Given the description of an element on the screen output the (x, y) to click on. 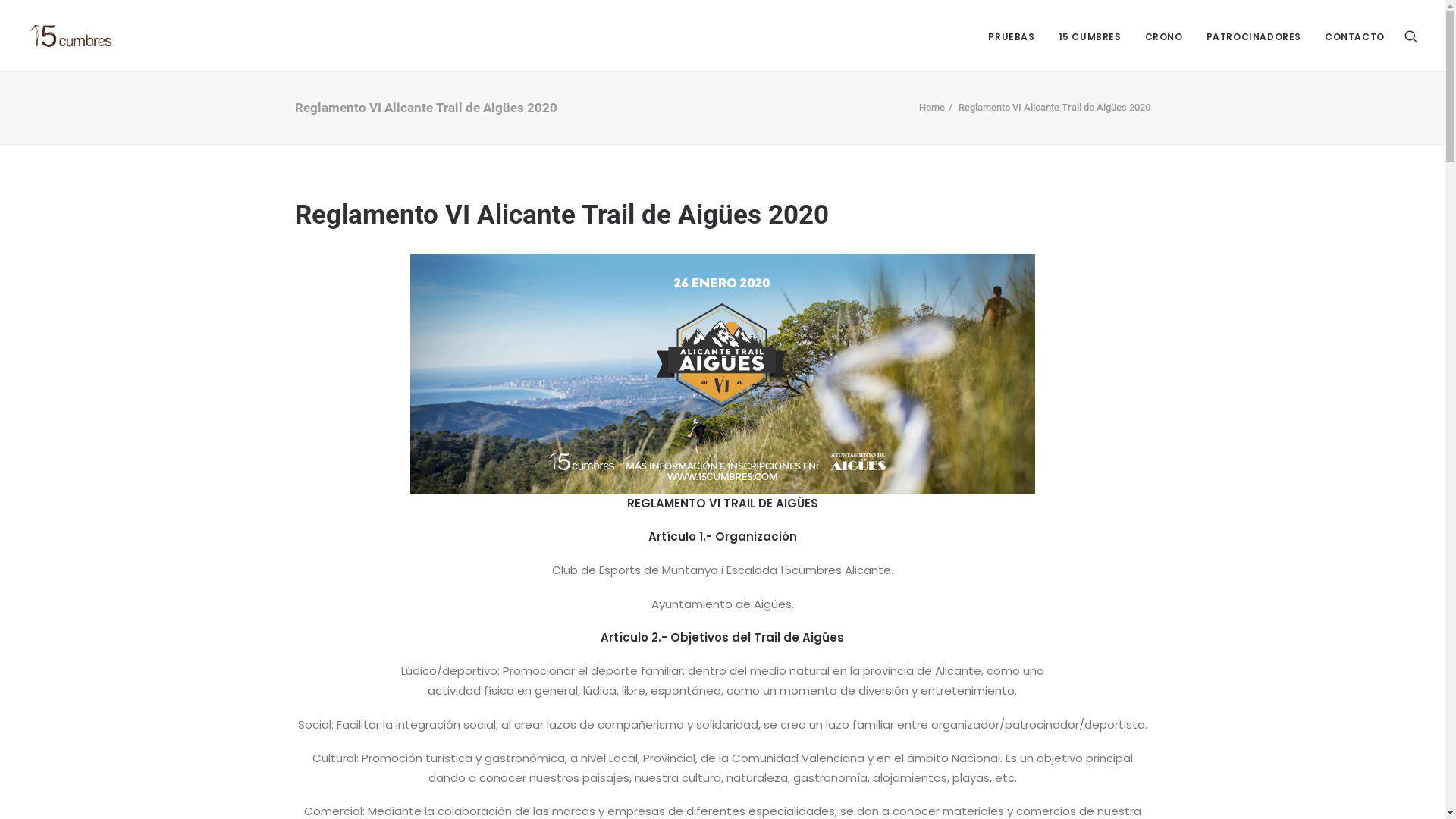
Home Element type: text (931, 106)
PRUEBAS Element type: text (1010, 35)
CRONO Element type: text (1163, 35)
15 CUMBRES Element type: text (1090, 35)
PATROCINADORES Element type: text (1253, 35)
CONTACTO Element type: text (1349, 35)
